Given the description of an element on the screen output the (x, y) to click on. 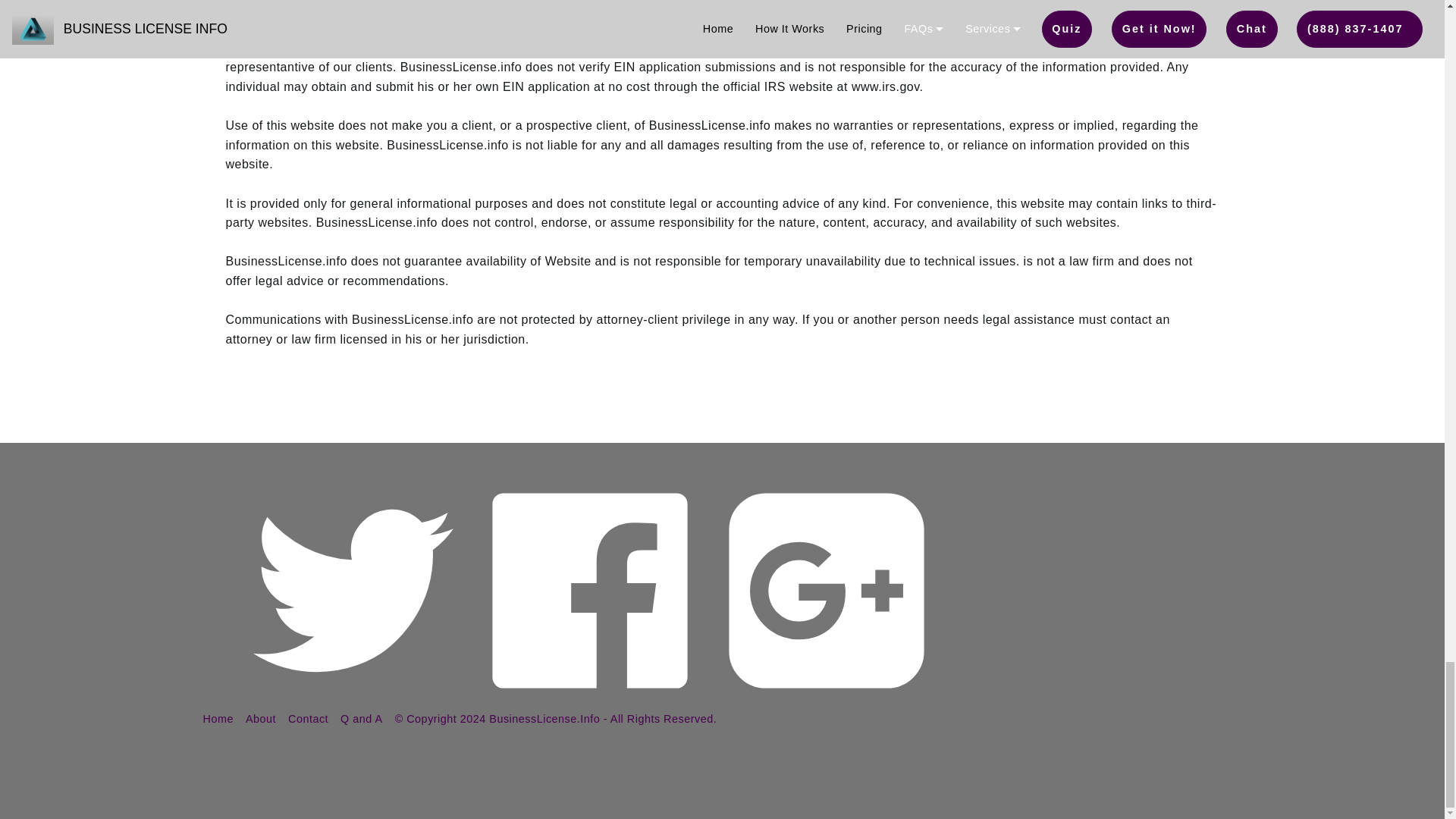
About (261, 718)
Q and A (361, 718)
Contact (308, 718)
Home (217, 718)
